Given the description of an element on the screen output the (x, y) to click on. 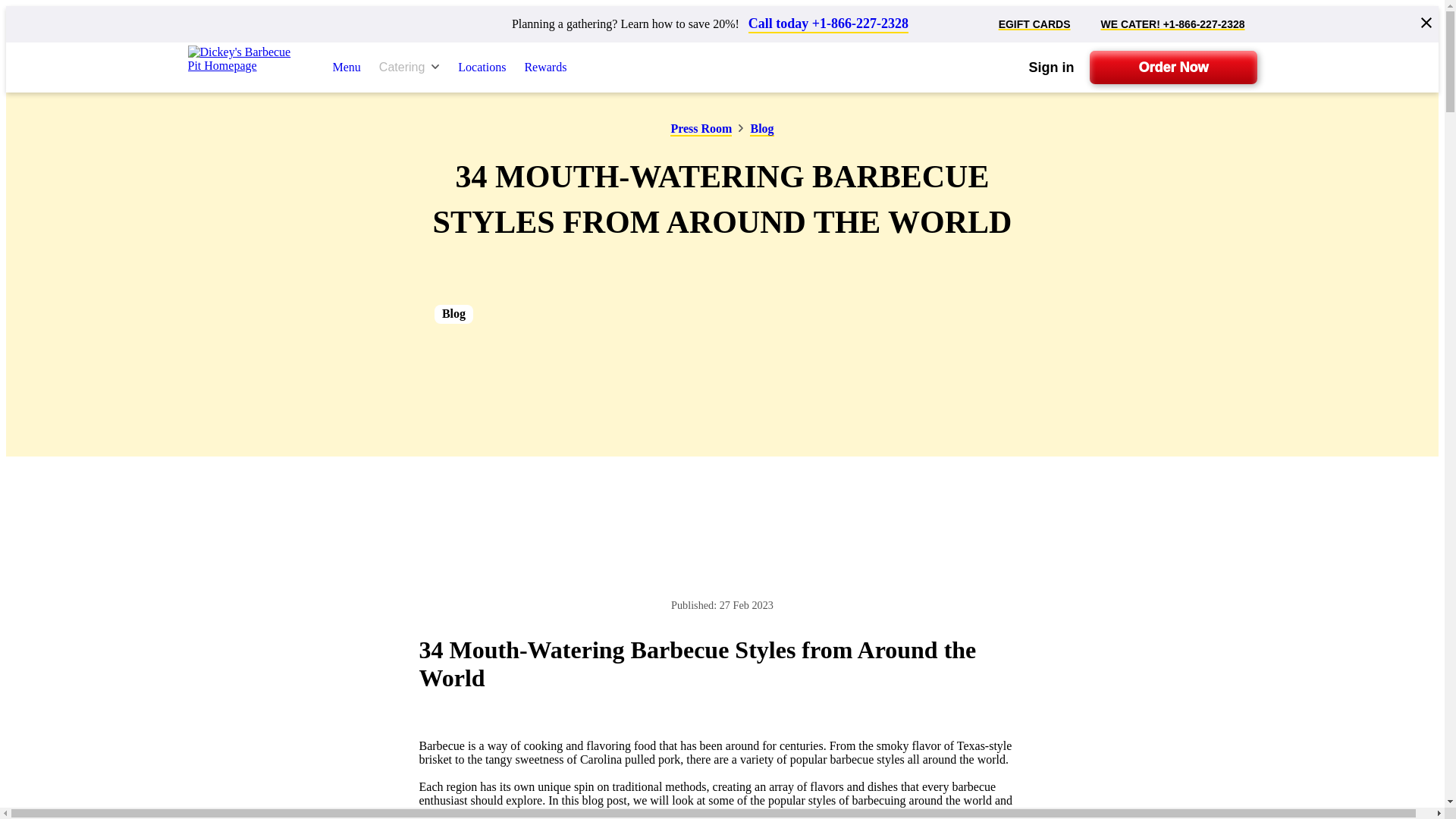
arrow-icon (740, 127)
Rewards (545, 67)
Blog (761, 129)
Cateringarrow-icon (408, 67)
Sign in (1050, 67)
Press Room (700, 129)
arrow-icon (434, 66)
Order Now (1172, 67)
Menu (345, 67)
EGIFT CARDS (1034, 24)
Locations (481, 67)
